Given the description of an element on the screen output the (x, y) to click on. 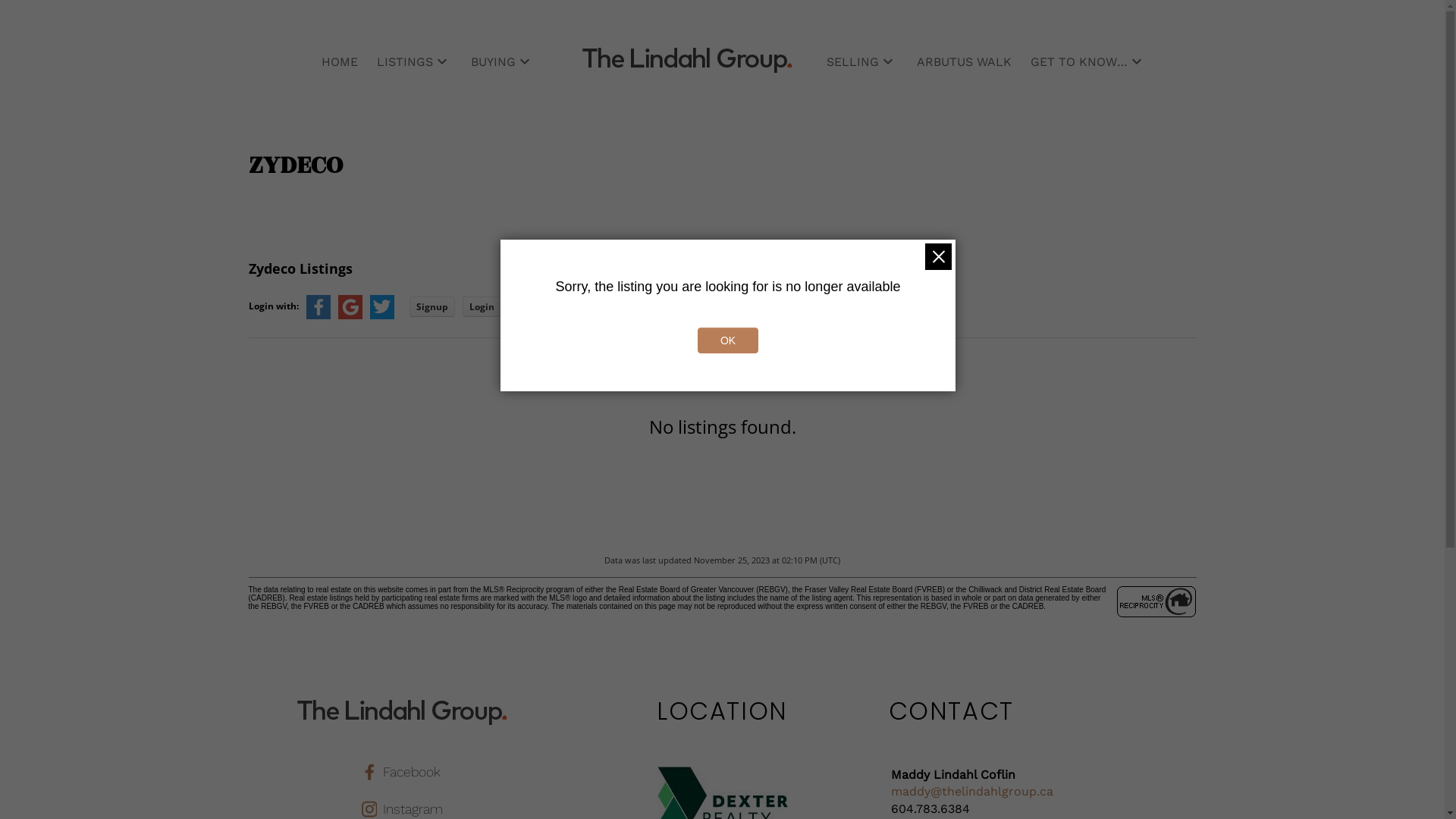
Login Element type: text (481, 306)
HOME Element type: text (339, 63)
ARBUTUS WALK Element type: text (963, 63)
Signup Element type: text (432, 306)
maddy@thelindahlgroup.ca Element type: text (972, 791)
Close Element type: hover (938, 256)
Facebook Element type: text (402, 771)
OK Element type: text (727, 340)
